Given the description of an element on the screen output the (x, y) to click on. 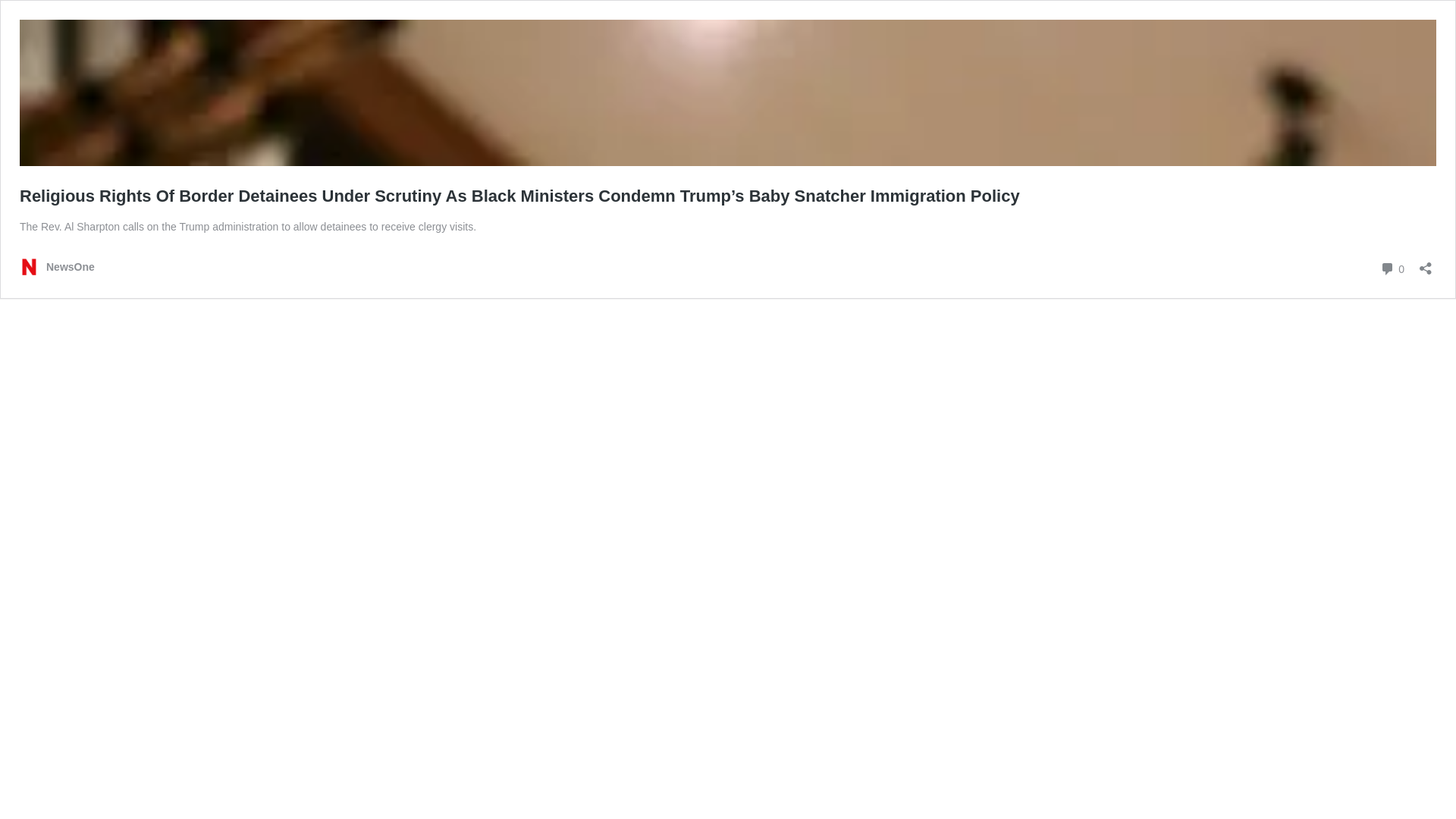
NewsOne (1392, 268)
